Given the description of an element on the screen output the (x, y) to click on. 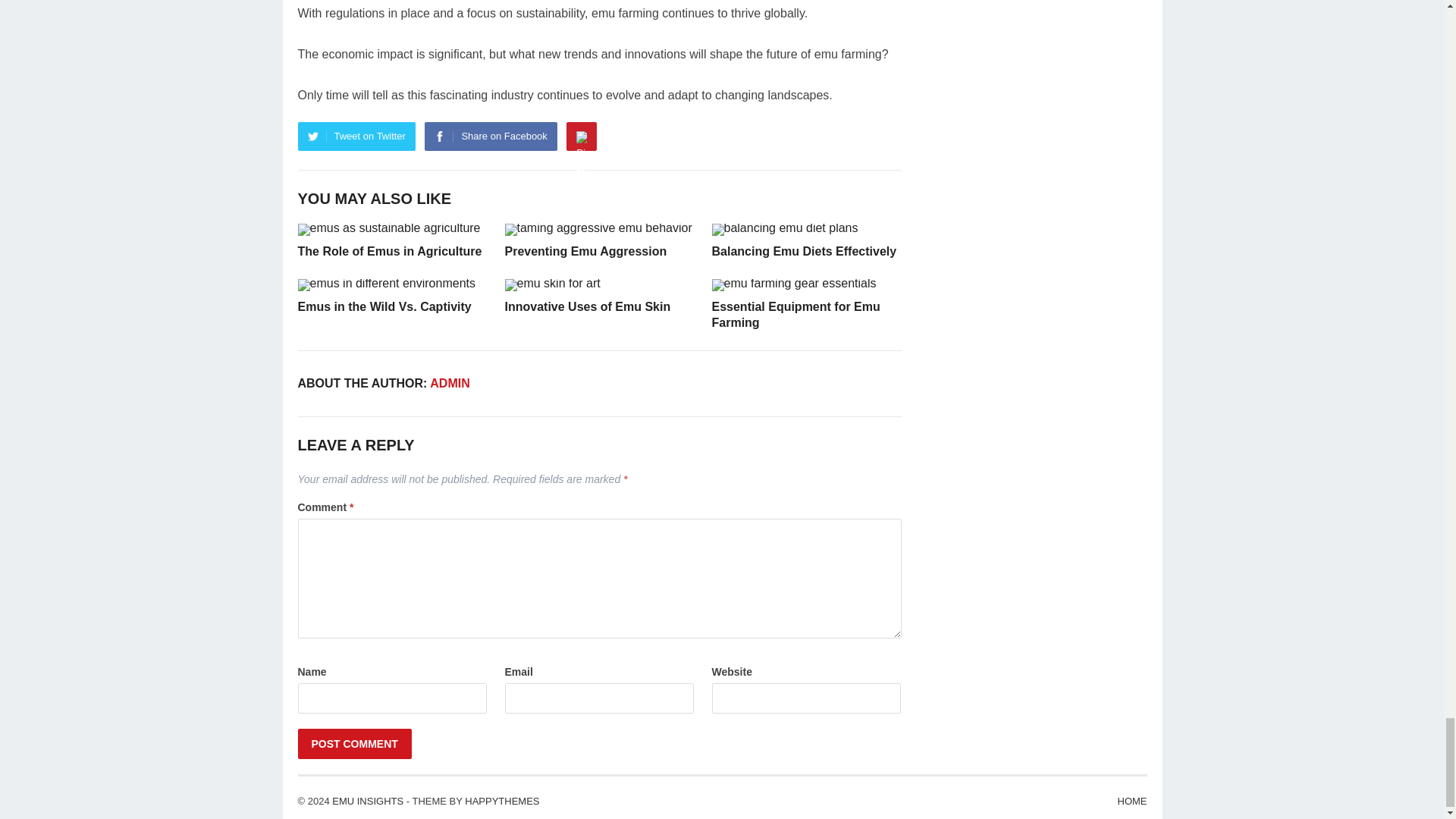
Essential Equipment for Emu Farming (795, 315)
Emus in the Wild Vs. Captivity (383, 306)
The Role of Emus in Agriculture (389, 250)
Preventing Emu Aggression (585, 250)
Post Comment (353, 743)
Post Comment (353, 743)
Tweet on Twitter (355, 136)
Balancing Emu Diets Effectively (803, 250)
Pinterest (581, 136)
Innovative Uses of Emu Skin (588, 306)
Share on Facebook (490, 136)
ADMIN (448, 382)
